Given the description of an element on the screen output the (x, y) to click on. 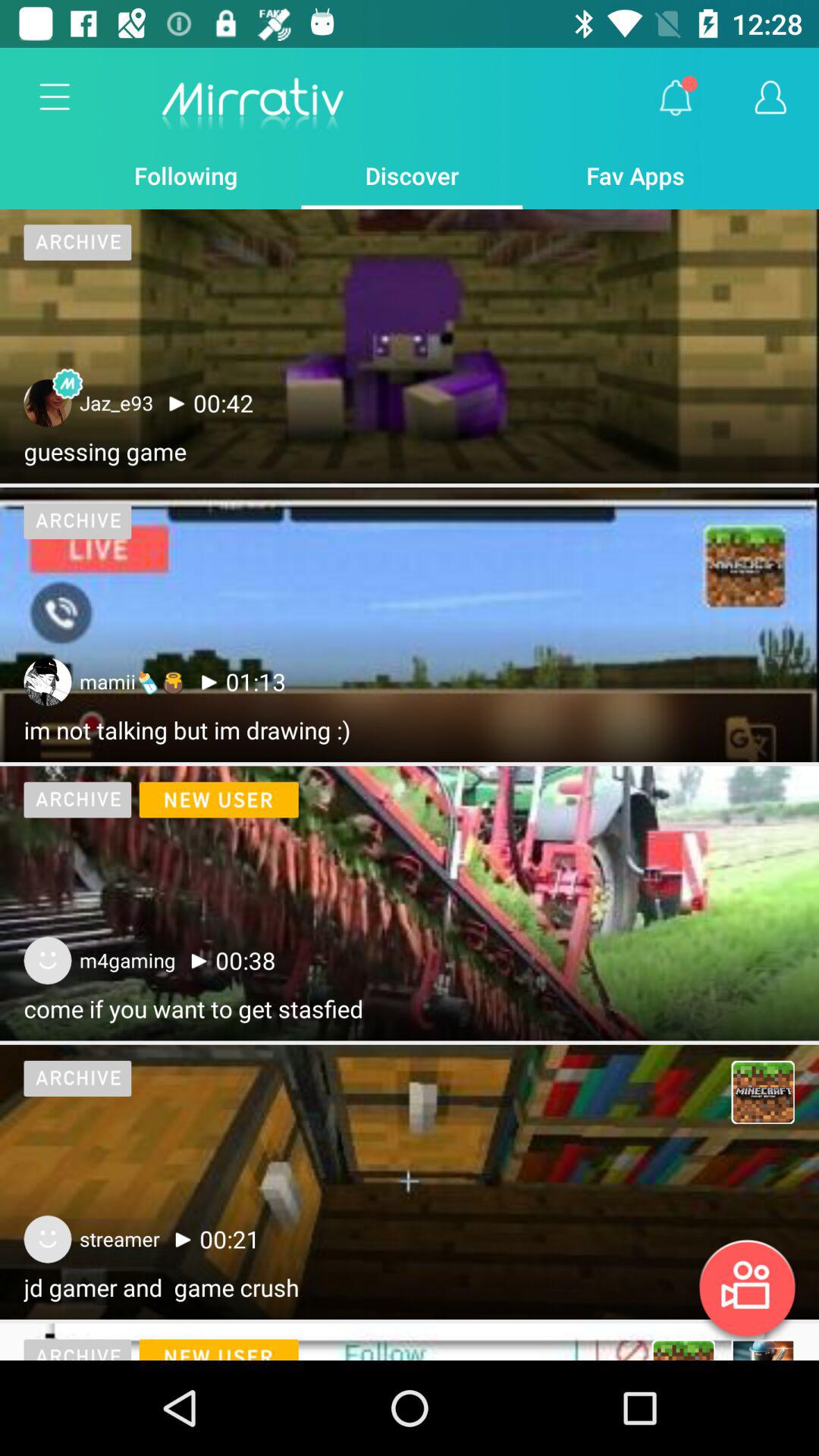
turn on the item above the fav apps app (675, 97)
